Given the description of an element on the screen output the (x, y) to click on. 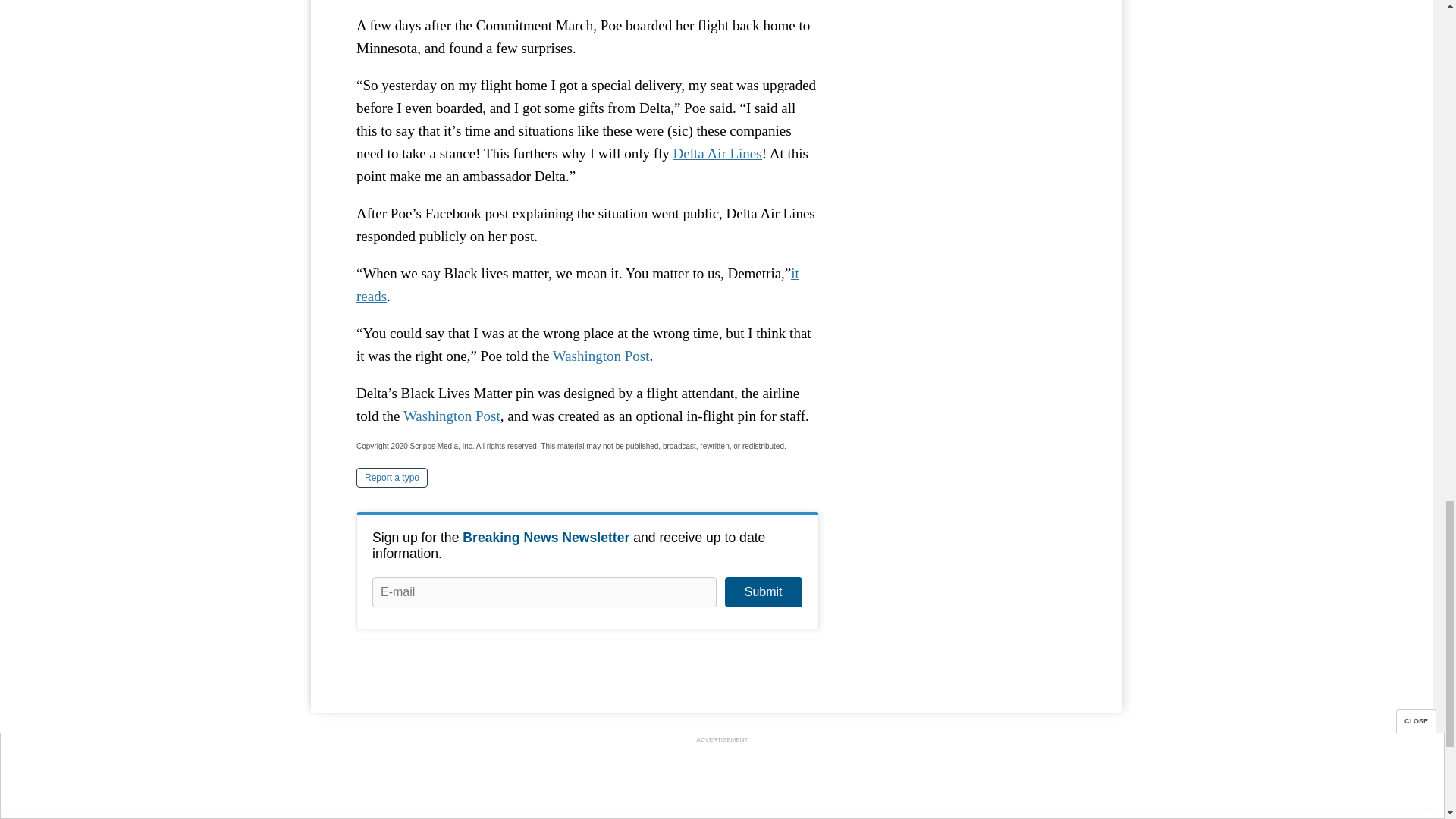
Submit (763, 592)
